Given the description of an element on the screen output the (x, y) to click on. 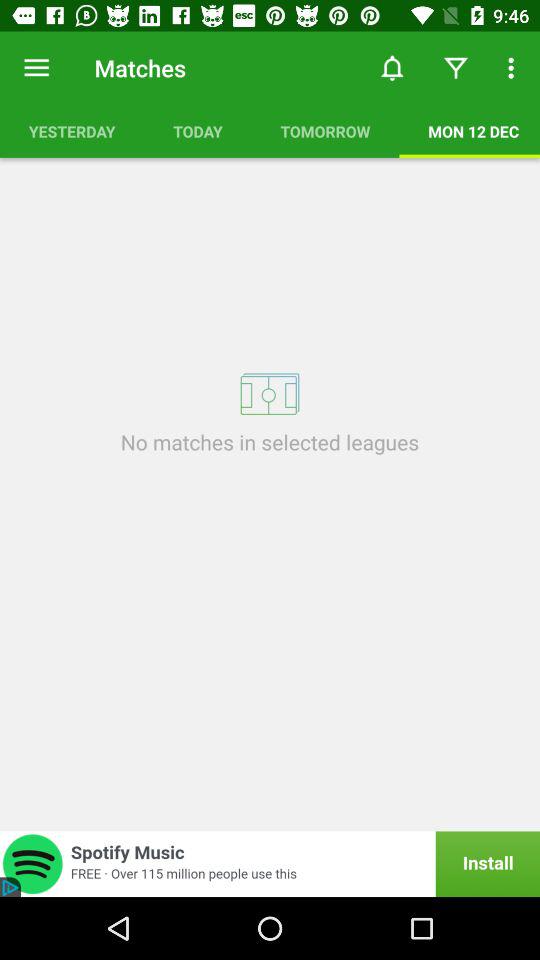
open icon to the right of the today icon (392, 67)
